Given the description of an element on the screen output the (x, y) to click on. 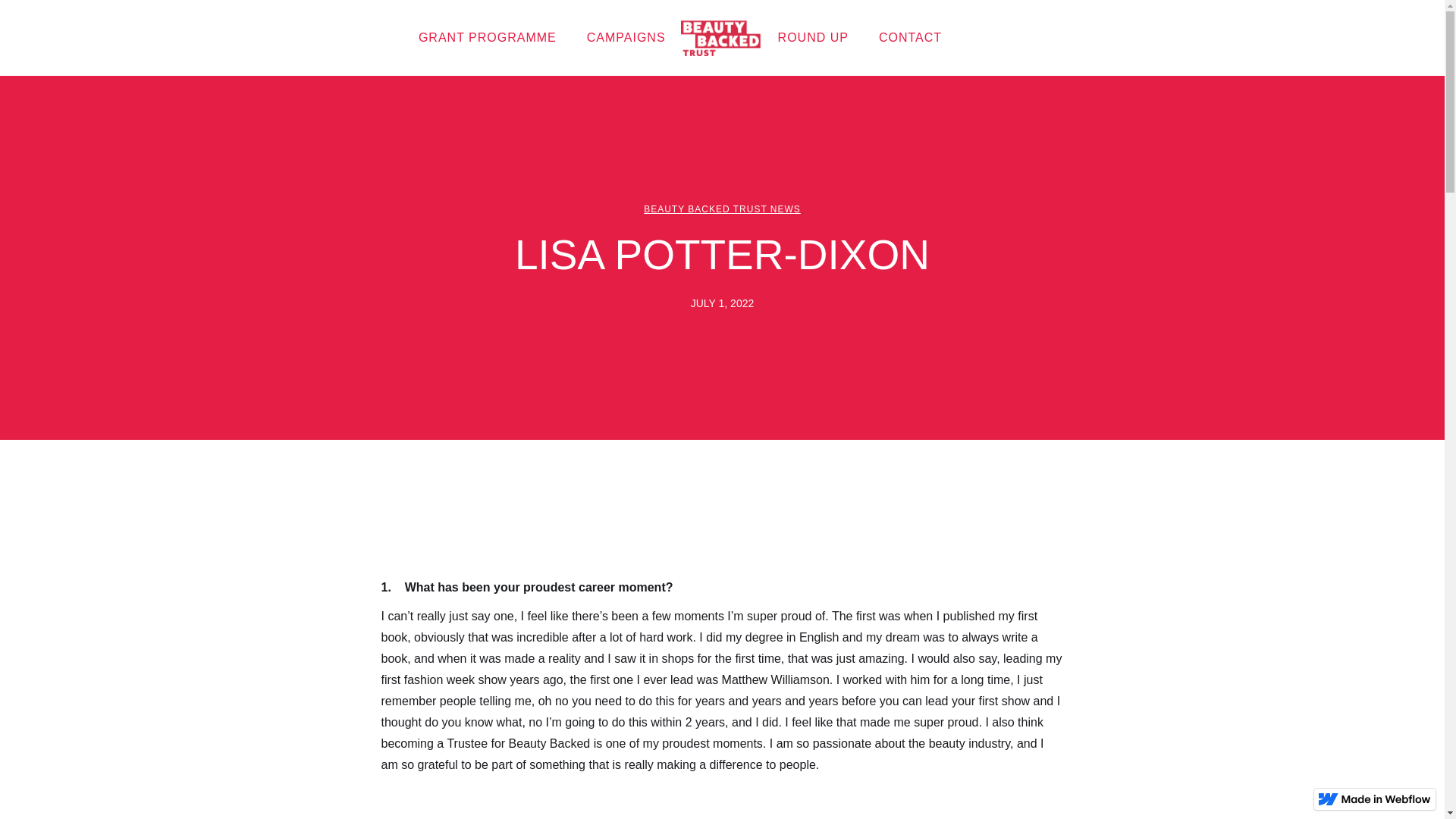
BEAUTY BACKED TRUST NEWS (721, 209)
ROUND UP (812, 37)
GRANT PROGRAMME (487, 37)
CAMPAIGNS (626, 37)
CONTACT (909, 37)
